Given the description of an element on the screen output the (x, y) to click on. 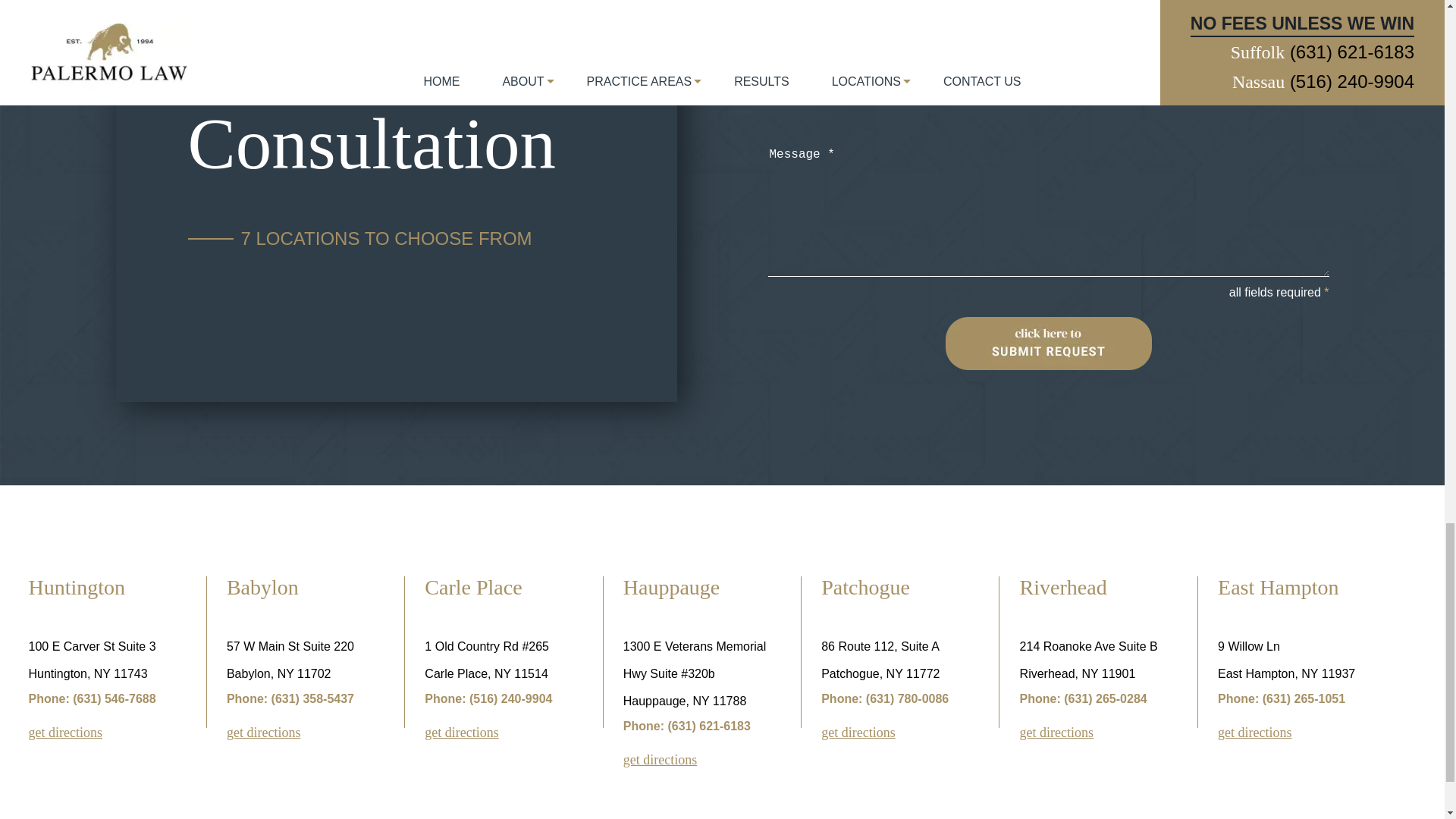
click here to submit request (1047, 343)
